Given the description of an element on the screen output the (x, y) to click on. 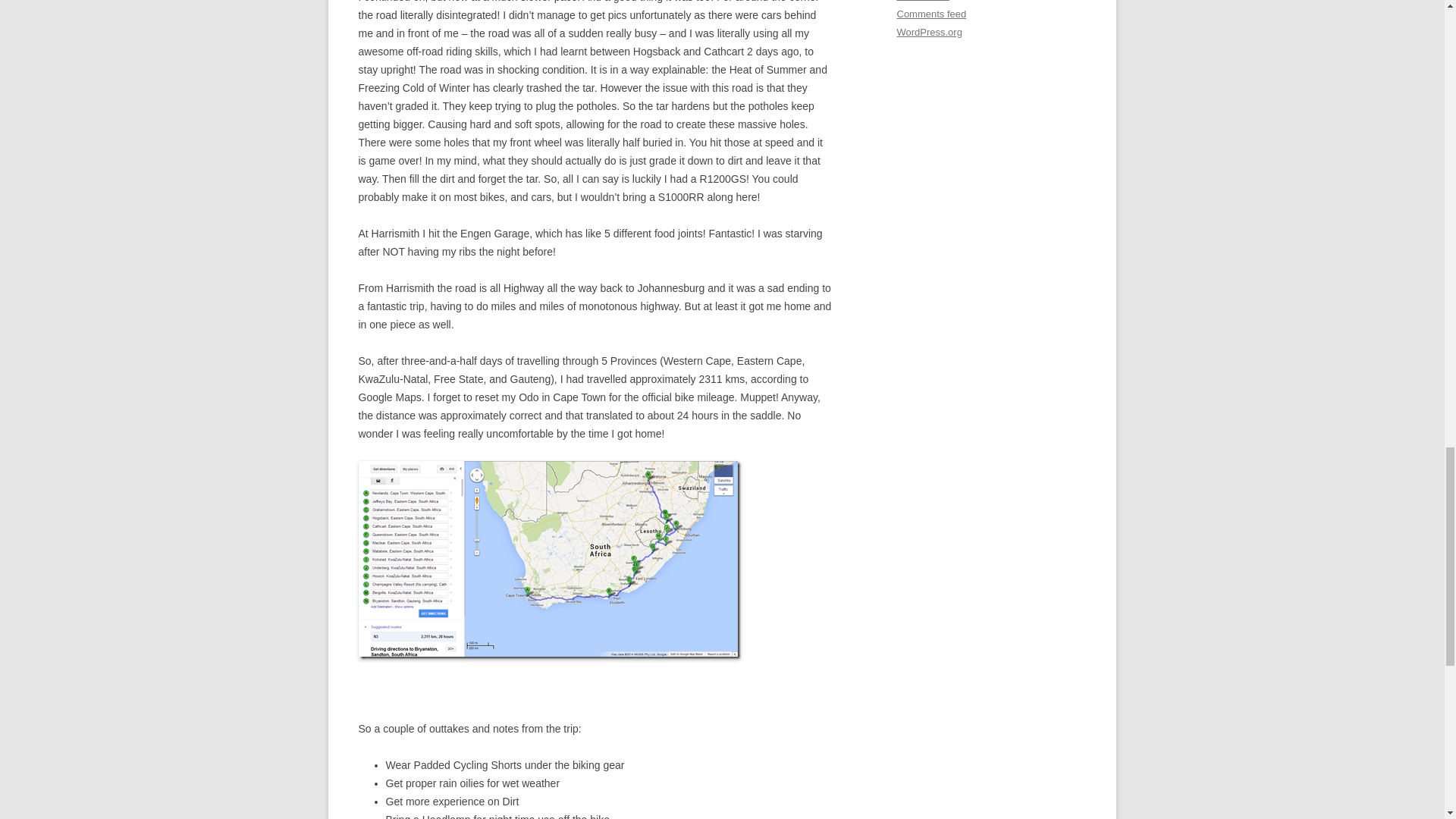
CPT to JHB by 1200GS (548, 560)
